Given the description of an element on the screen output the (x, y) to click on. 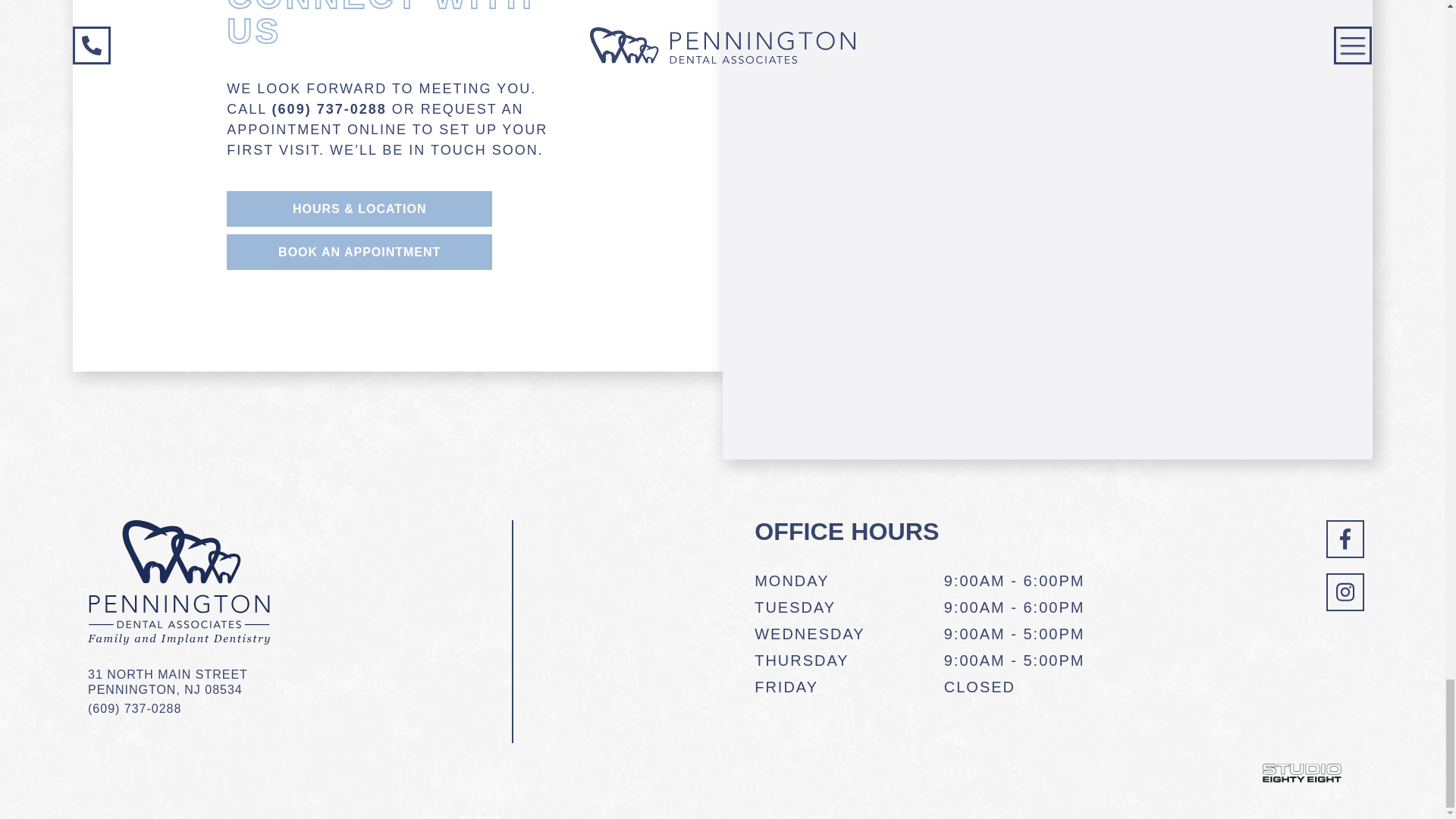
Studio Eighty Eight (178, 682)
BOOK AN APPOINTMENT (1301, 772)
Studio Eighty Eight (359, 252)
